Given the description of an element on the screen output the (x, y) to click on. 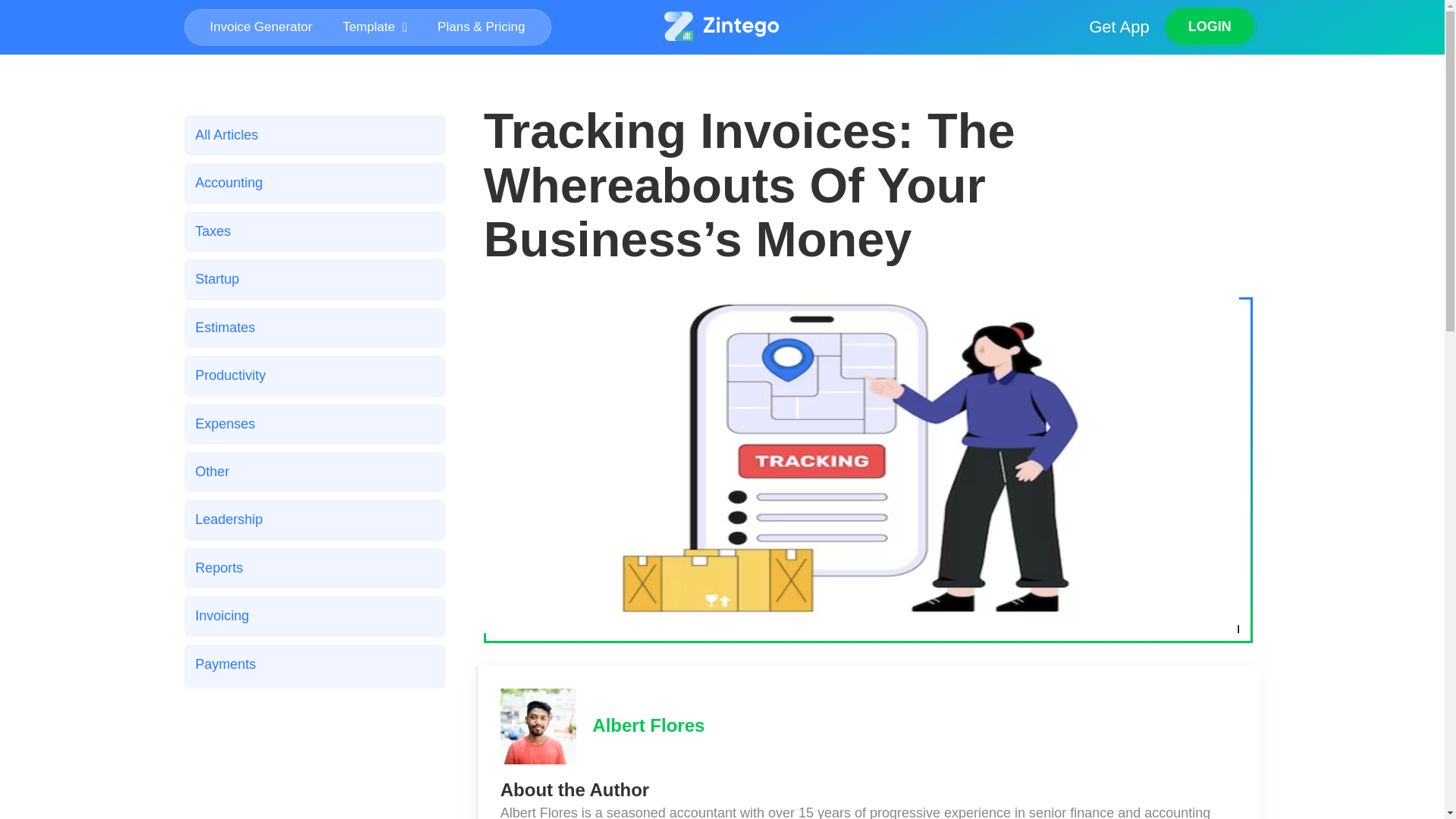
Leadership (314, 519)
Invoice Generator (261, 27)
Startup (314, 278)
Template (374, 27)
Taxes (314, 231)
All Articles (314, 135)
LOGIN (1209, 26)
Expenses (314, 423)
Reports (314, 568)
Productivity (314, 375)
Accounting (314, 182)
Invoicing (314, 615)
Other (314, 471)
Estimates (314, 327)
Payments (314, 664)
